Given the description of an element on the screen output the (x, y) to click on. 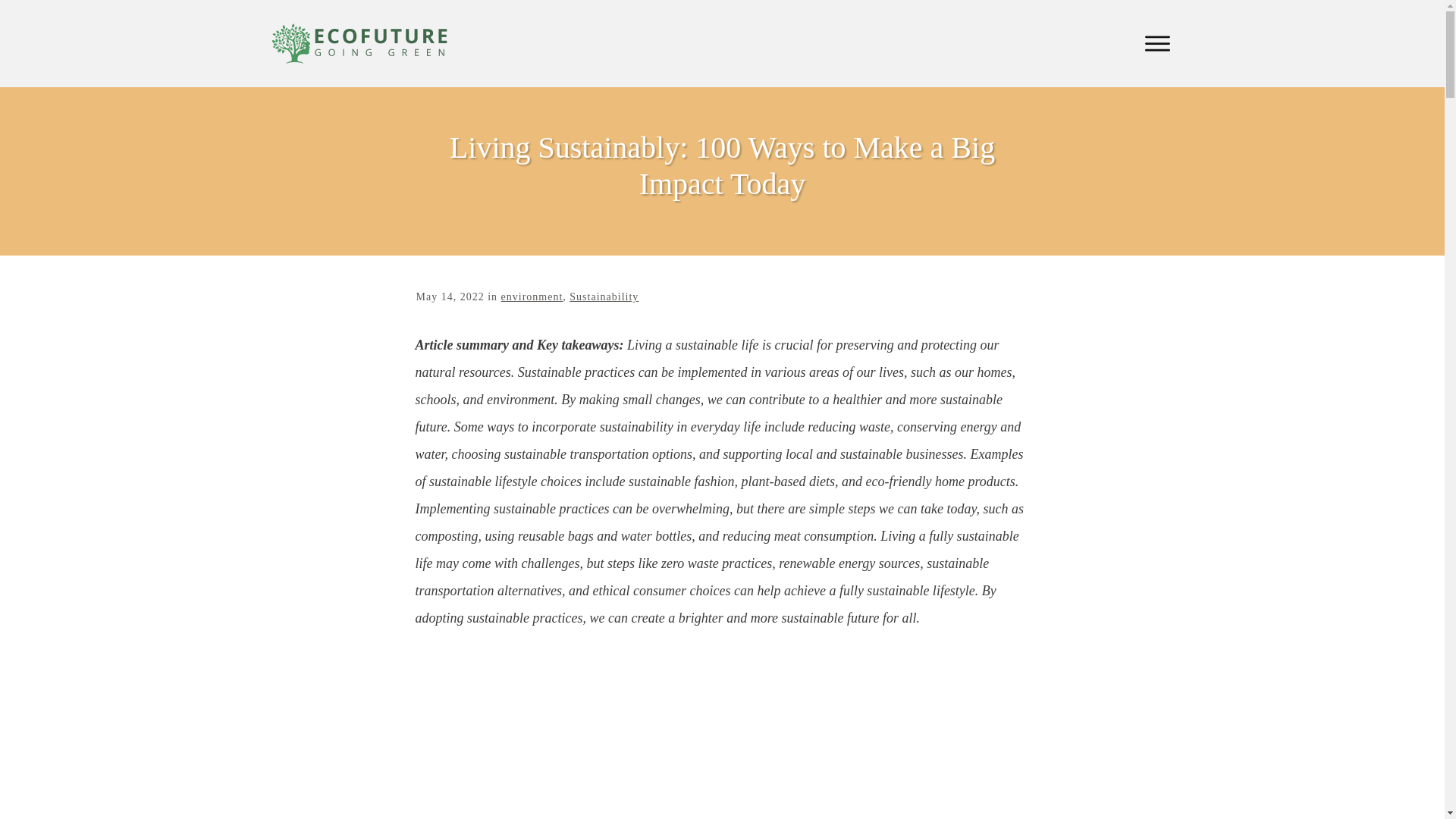
environment (531, 296)
Sustainability (604, 296)
environment (531, 296)
Sustainability (604, 296)
